Given the description of an element on the screen output the (x, y) to click on. 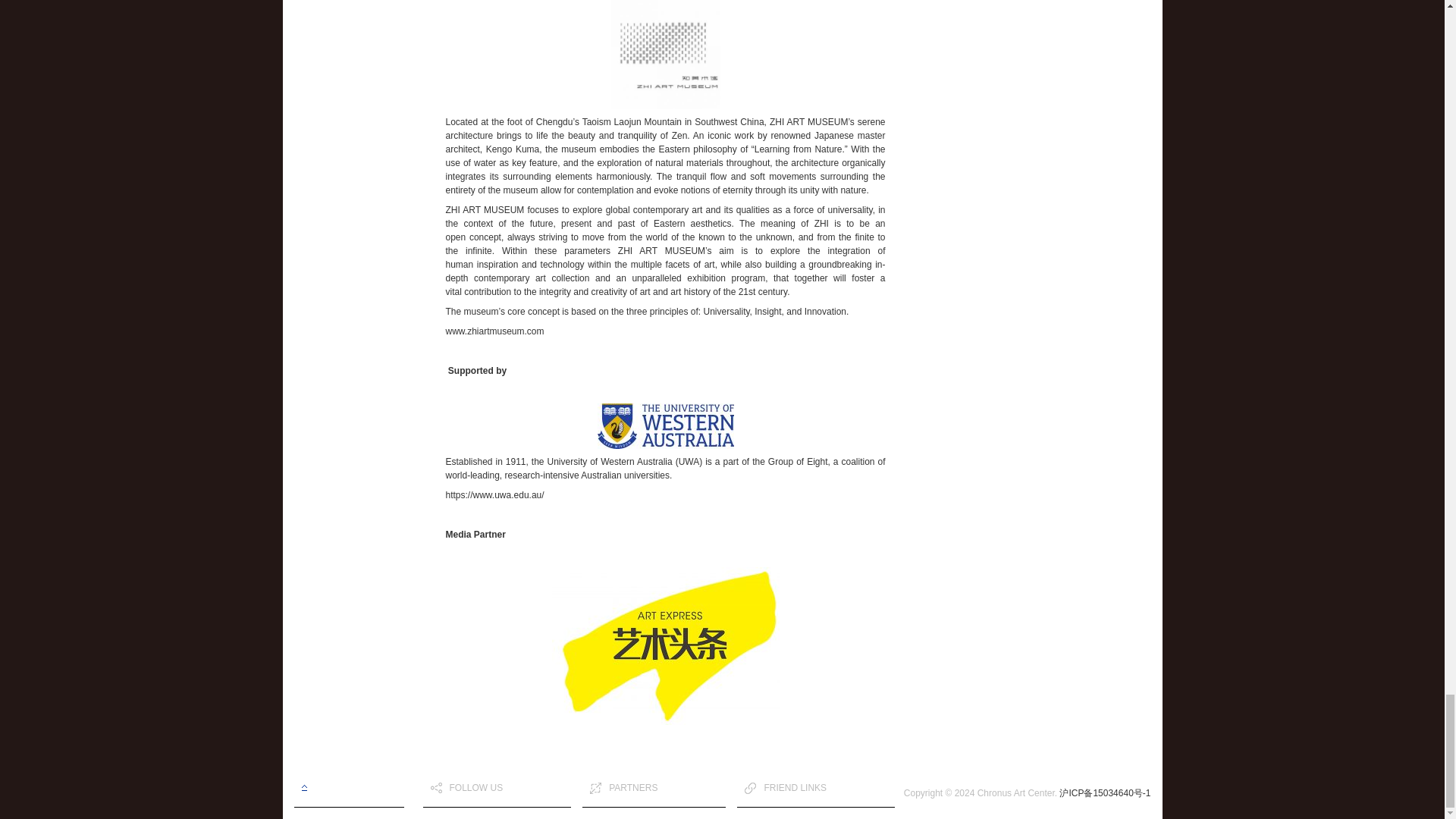
BACK TO TOP (349, 788)
